Given the description of an element on the screen output the (x, y) to click on. 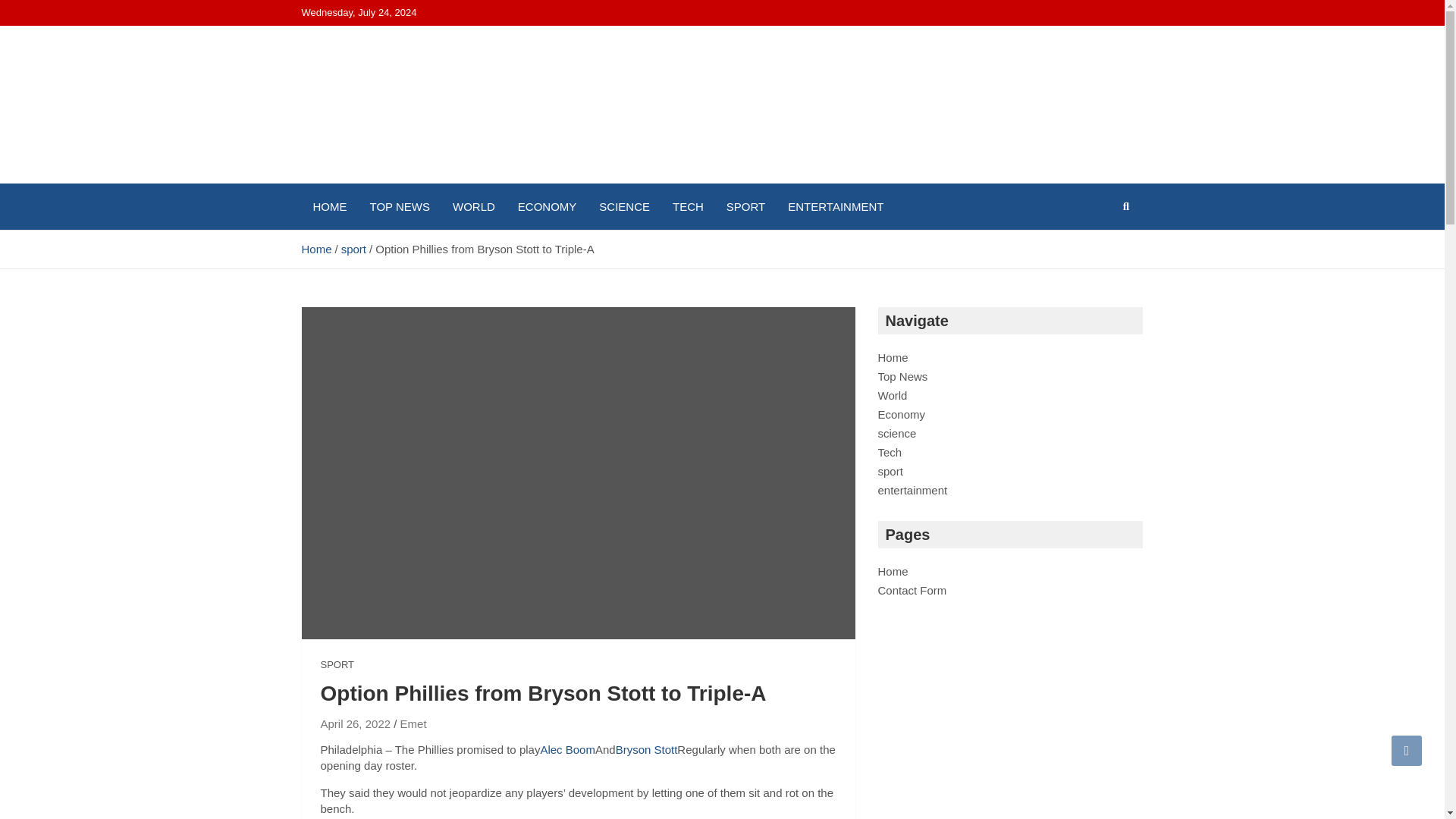
Economy (901, 413)
SPORT (336, 664)
WORLD (473, 206)
Option Phillies from Bryson Stott to Triple-A (355, 723)
Bryson Stott (646, 748)
Secular Talk (390, 180)
SCIENCE (624, 206)
TECH (687, 206)
SPORT (745, 206)
HOME (329, 206)
science (897, 432)
World (892, 395)
Alec Boom (567, 748)
sport (889, 471)
April 26, 2022 (355, 723)
